Given the description of an element on the screen output the (x, y) to click on. 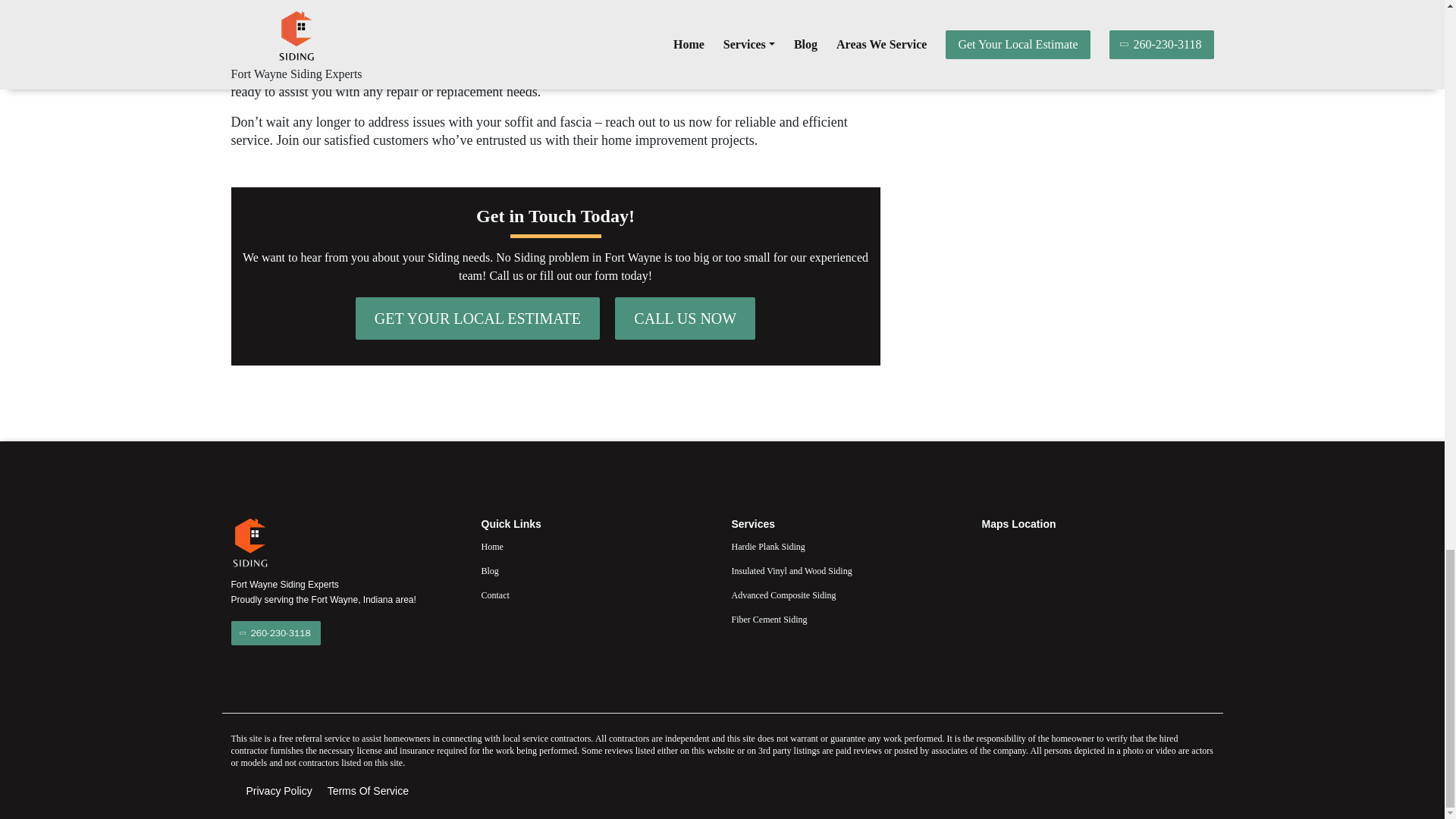
260-230-3118 (275, 632)
GET YOUR LOCAL ESTIMATE (477, 318)
Insulated Vinyl and Wood Siding (846, 570)
Hardie Plank Siding (846, 546)
CALL US NOW (684, 318)
Fiber Cement Siding (846, 619)
Terms Of Service (368, 791)
Home (596, 546)
Blog (596, 570)
Contact (596, 595)
